Given the description of an element on the screen output the (x, y) to click on. 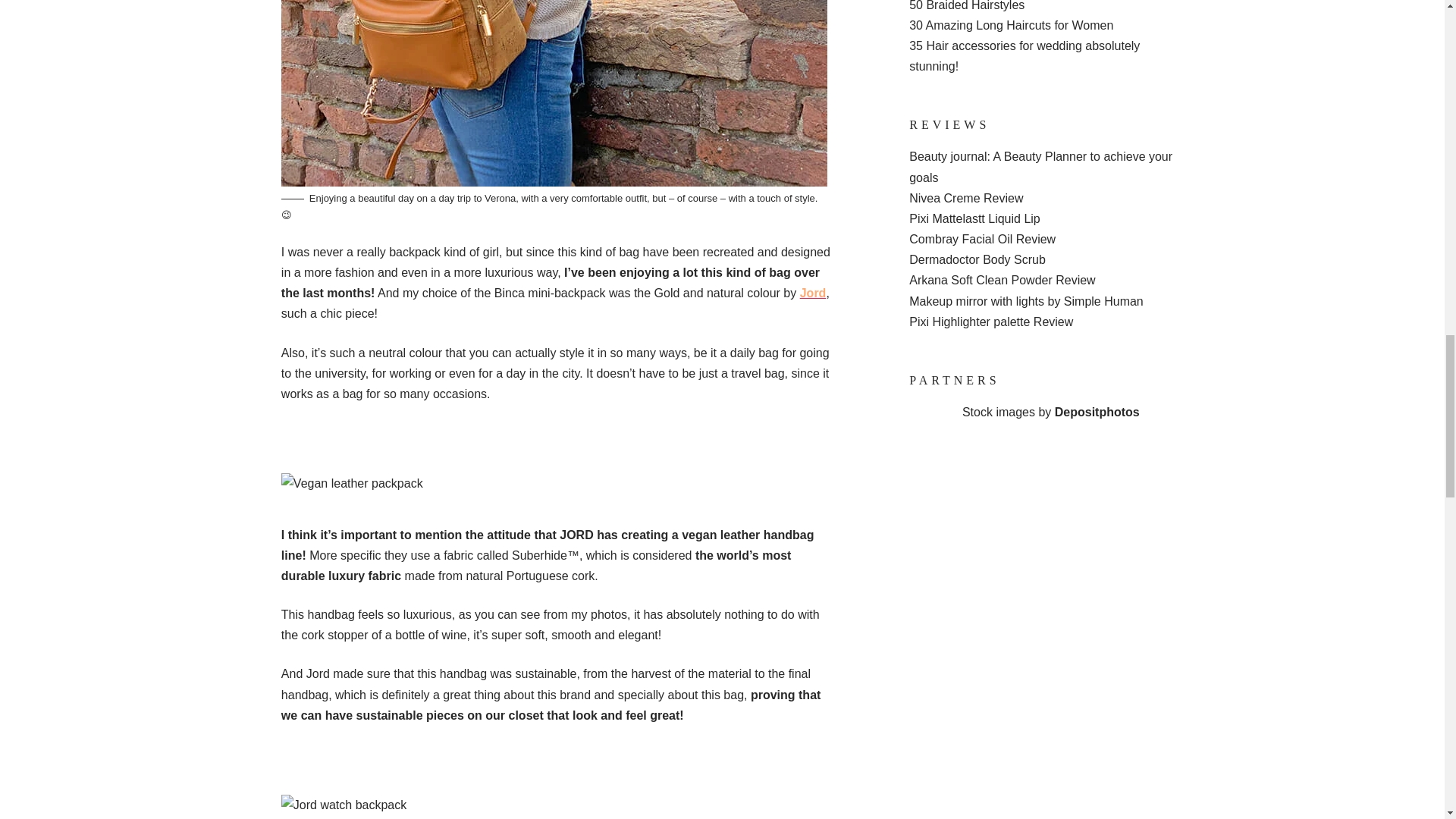
Vegan leather packpack (352, 483)
Jord packpack (554, 93)
Jord watch backpack (343, 804)
